Given the description of an element on the screen output the (x, y) to click on. 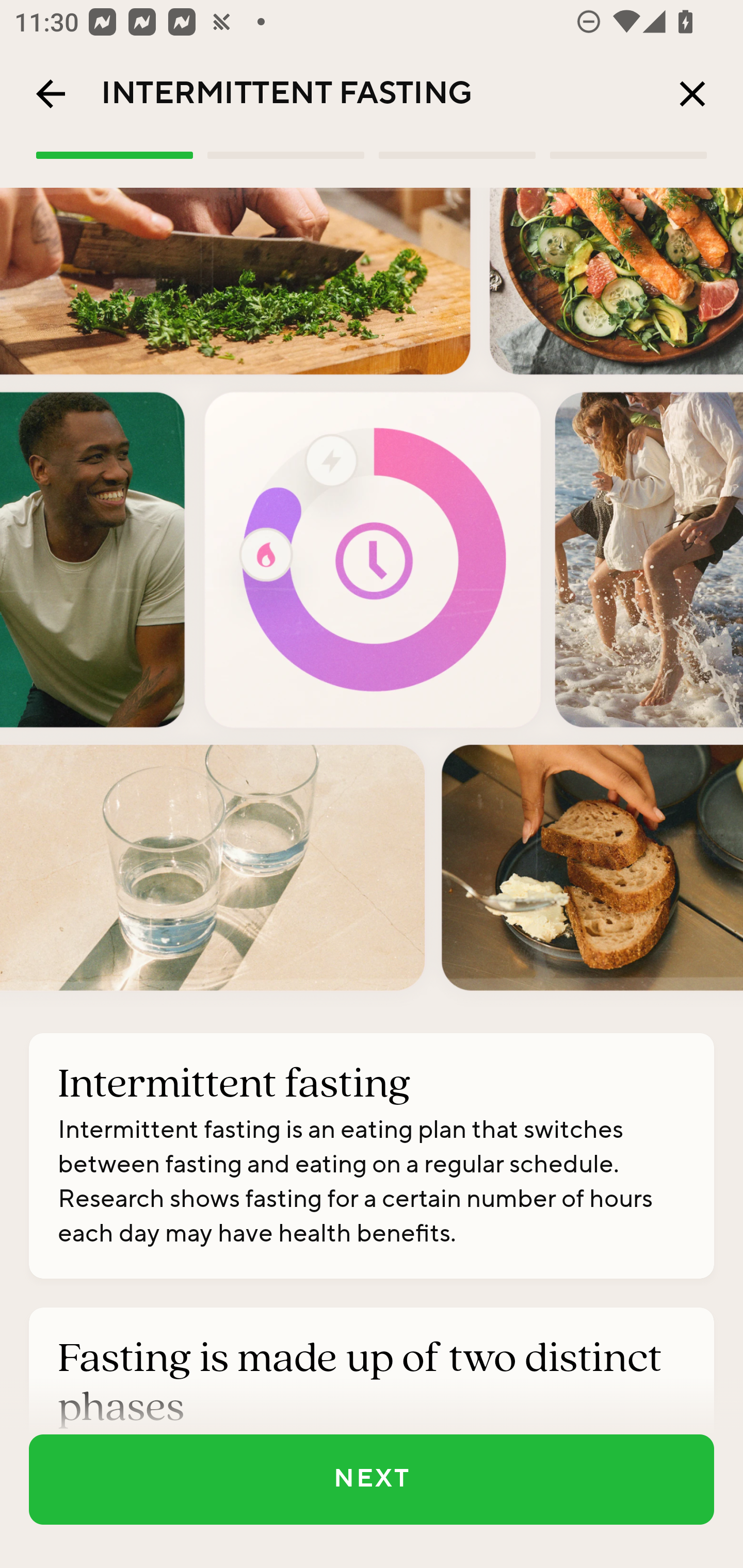
NEXT (371, 1479)
